Given the description of an element on the screen output the (x, y) to click on. 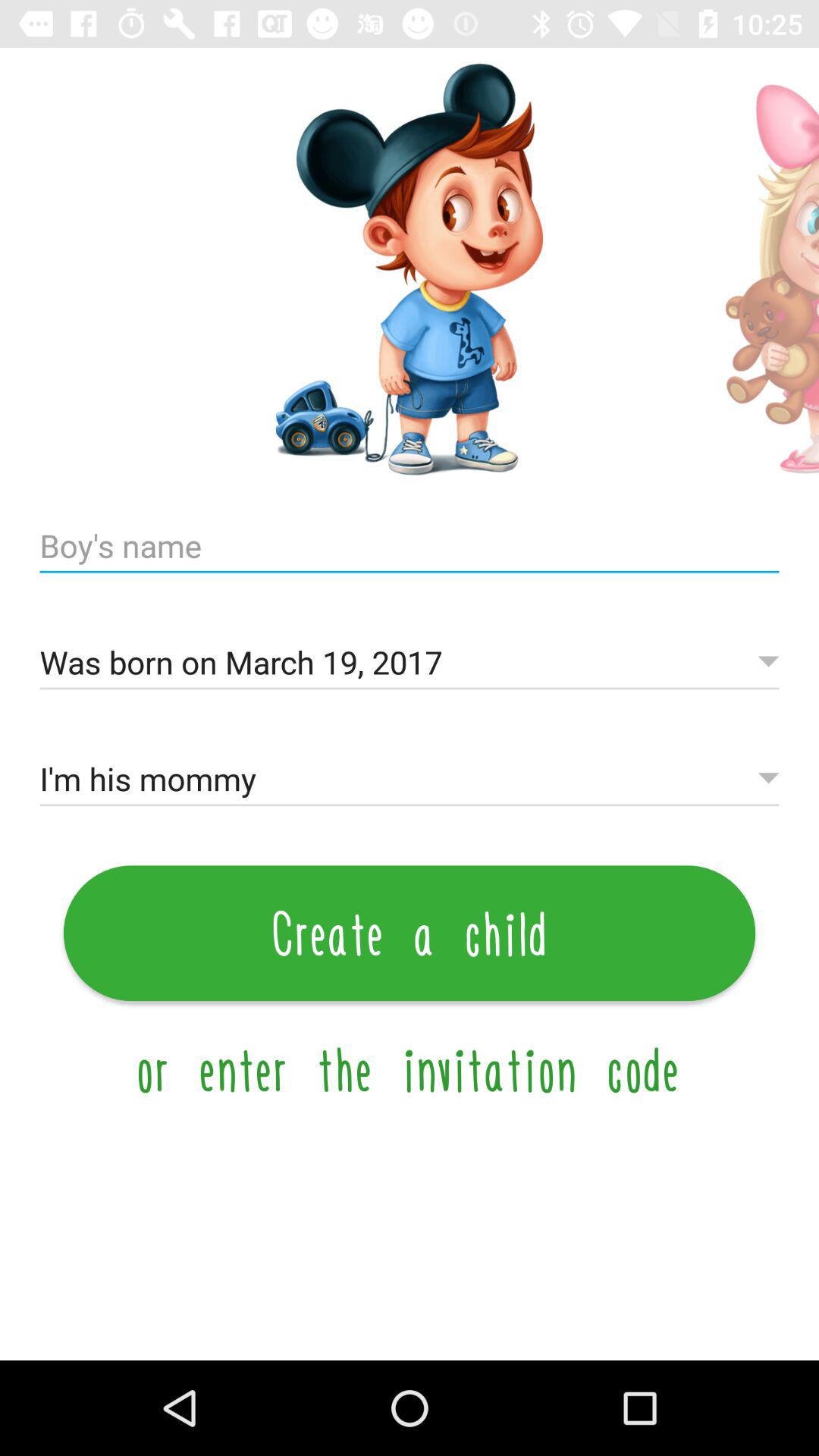
swipe to was born on icon (409, 662)
